Given the description of an element on the screen output the (x, y) to click on. 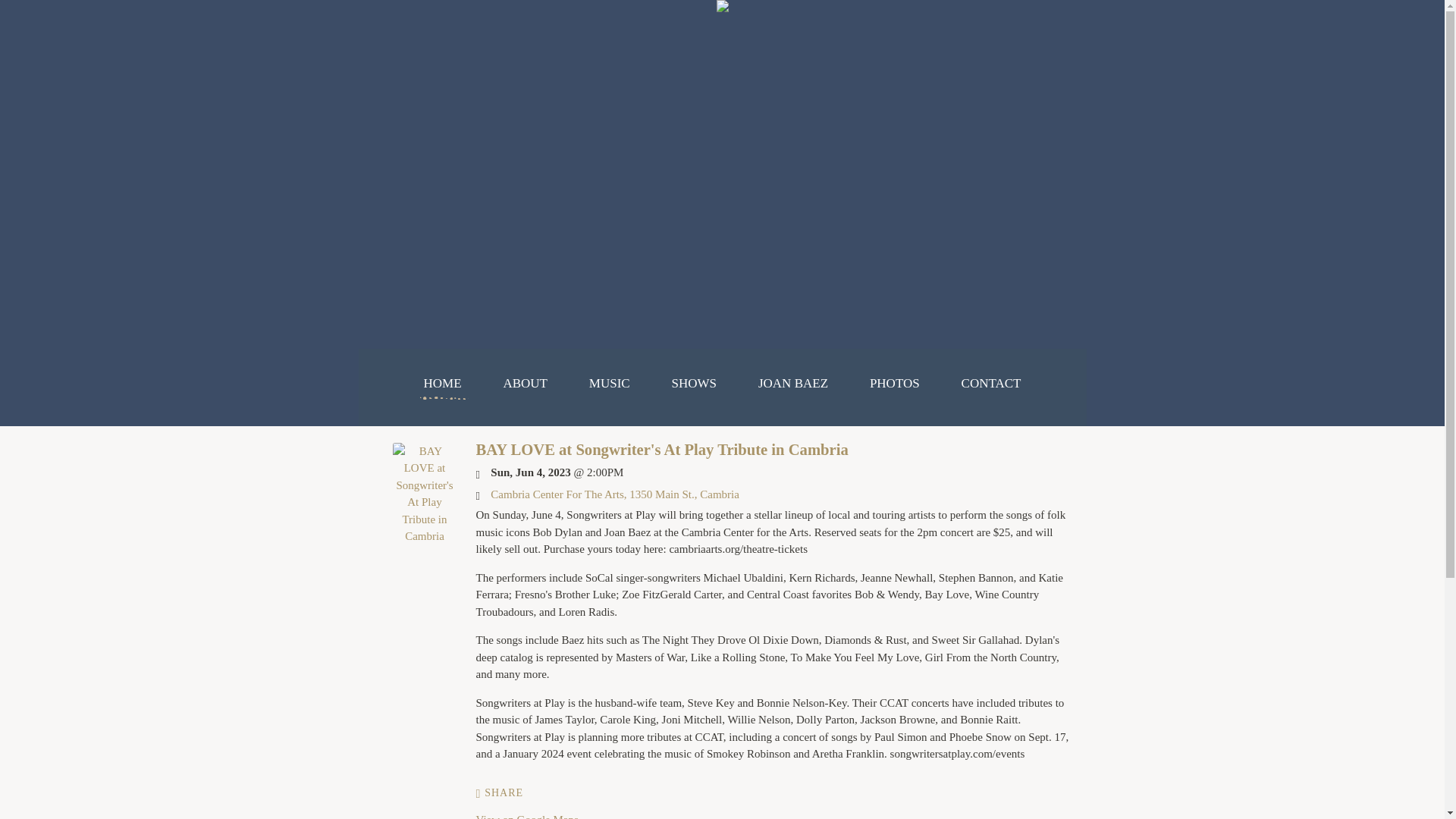
MUSIC (609, 383)
PHOTOS (895, 383)
BAY LOVE at Songwriter's At Play Tribute in Cambria (425, 535)
SHOWS (694, 383)
Visit venue website (614, 494)
CONTACT (991, 383)
SHARE (500, 792)
View on Google Maps (527, 816)
HOME (442, 383)
ABOUT (524, 383)
